Given the description of an element on the screen output the (x, y) to click on. 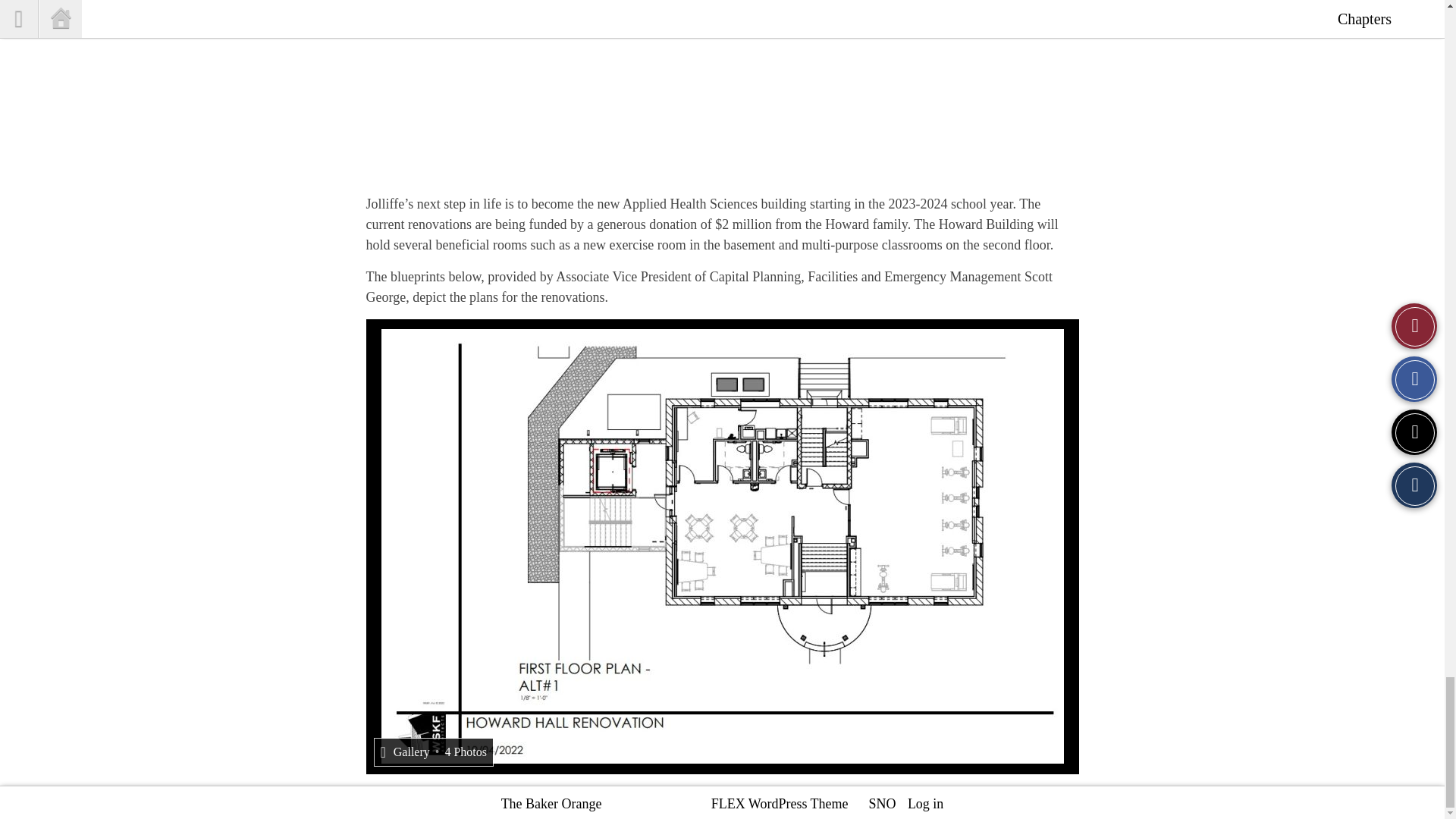
jolliffe Hall Video (721, 88)
